Given the description of an element on the screen output the (x, y) to click on. 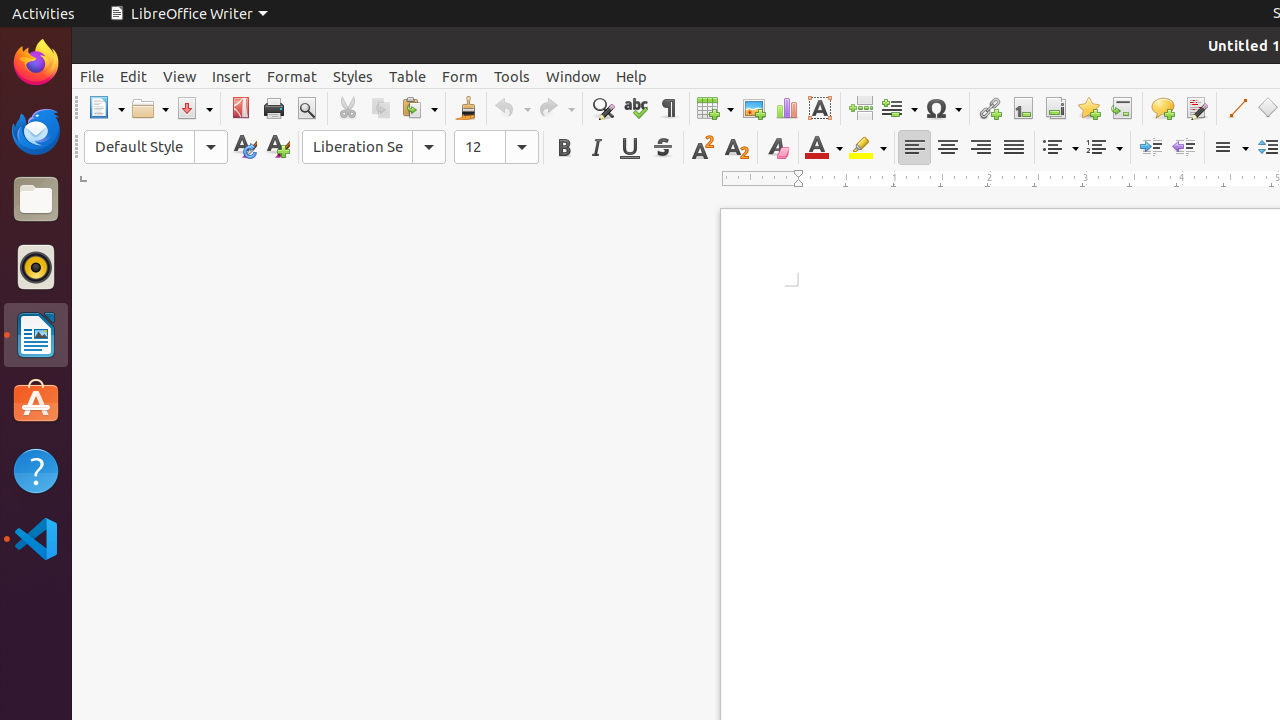
Bold Element type: toggle-button (563, 147)
View Element type: menu (179, 76)
Window Element type: menu (573, 76)
Left Element type: toggle-button (914, 147)
